Given the description of an element on the screen output the (x, y) to click on. 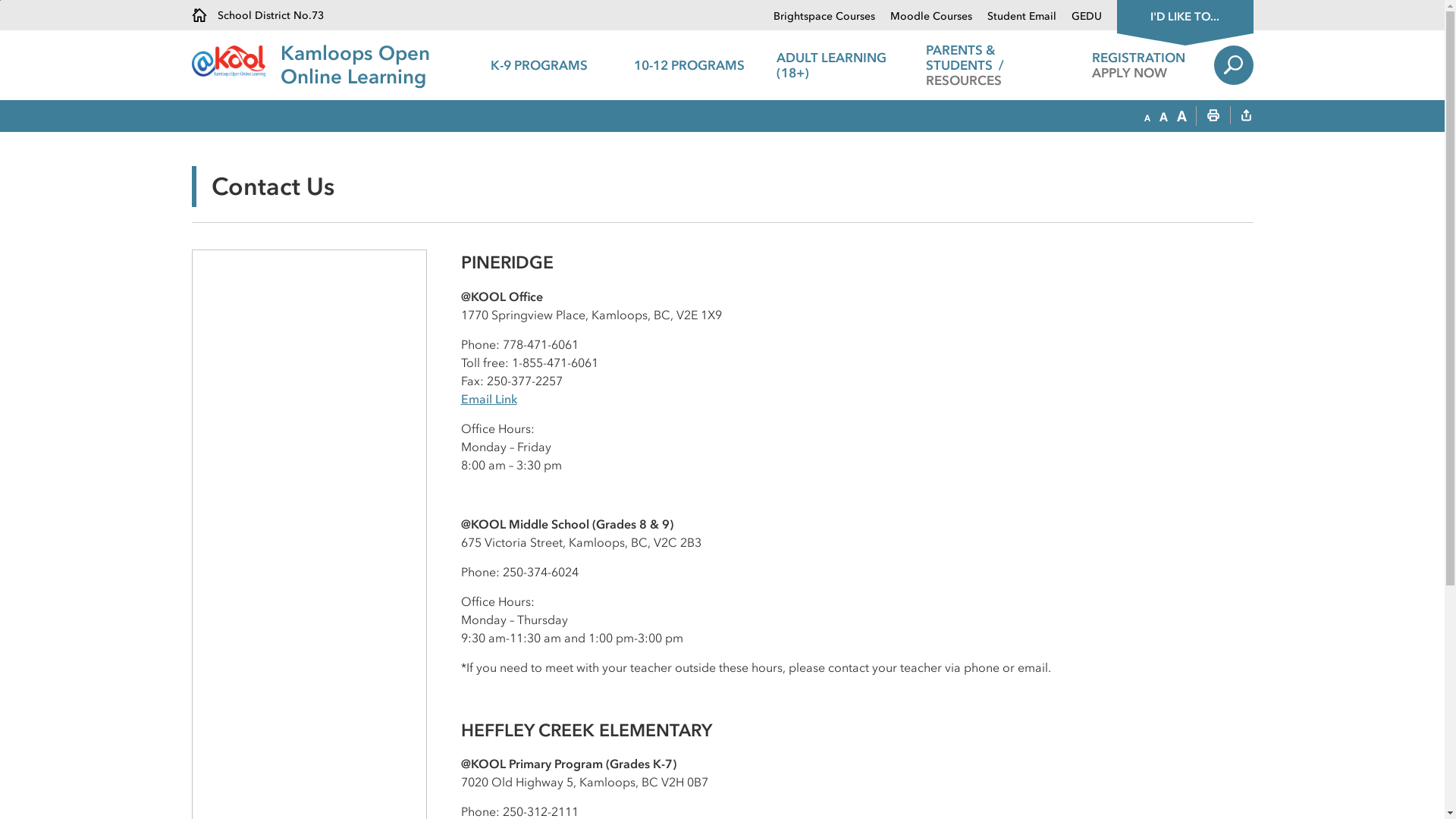
REGISTRATION
APPLY NOW Element type: text (1138, 65)
K-9 PROGRAMS Element type: text (539, 65)
  Element type: text (1245, 116)
Student Email Element type: text (1014, 15)
ADULT LEARNING (18+) Element type: text (839, 65)
Kamloops Open
Online Learning Element type: text (354, 65)
Brightspace Courses Element type: text (824, 15)
Moodle Courses Element type: text (923, 15)
Decrease text size Element type: hover (1146, 116)
Click to return to the homepage Element type: hover (235, 60)
Increase text size Element type: hover (1181, 116)
PARENTS & STUDENTS
RESOURCES Element type: text (988, 65)
Email Link Element type: text (489, 398)
I'D LIKE TO... Element type: text (1184, 15)
School District No.73 Element type: text (257, 15)
Skip to Content Element type: text (0, 0)
Default text size Element type: hover (1162, 116)
10-12 PROGRAMS Element type: text (689, 65)
Search Element type: text (1232, 64)
GEDU Element type: text (1078, 15)
Print This Page Element type: hover (1212, 116)
